Given the description of an element on the screen output the (x, y) to click on. 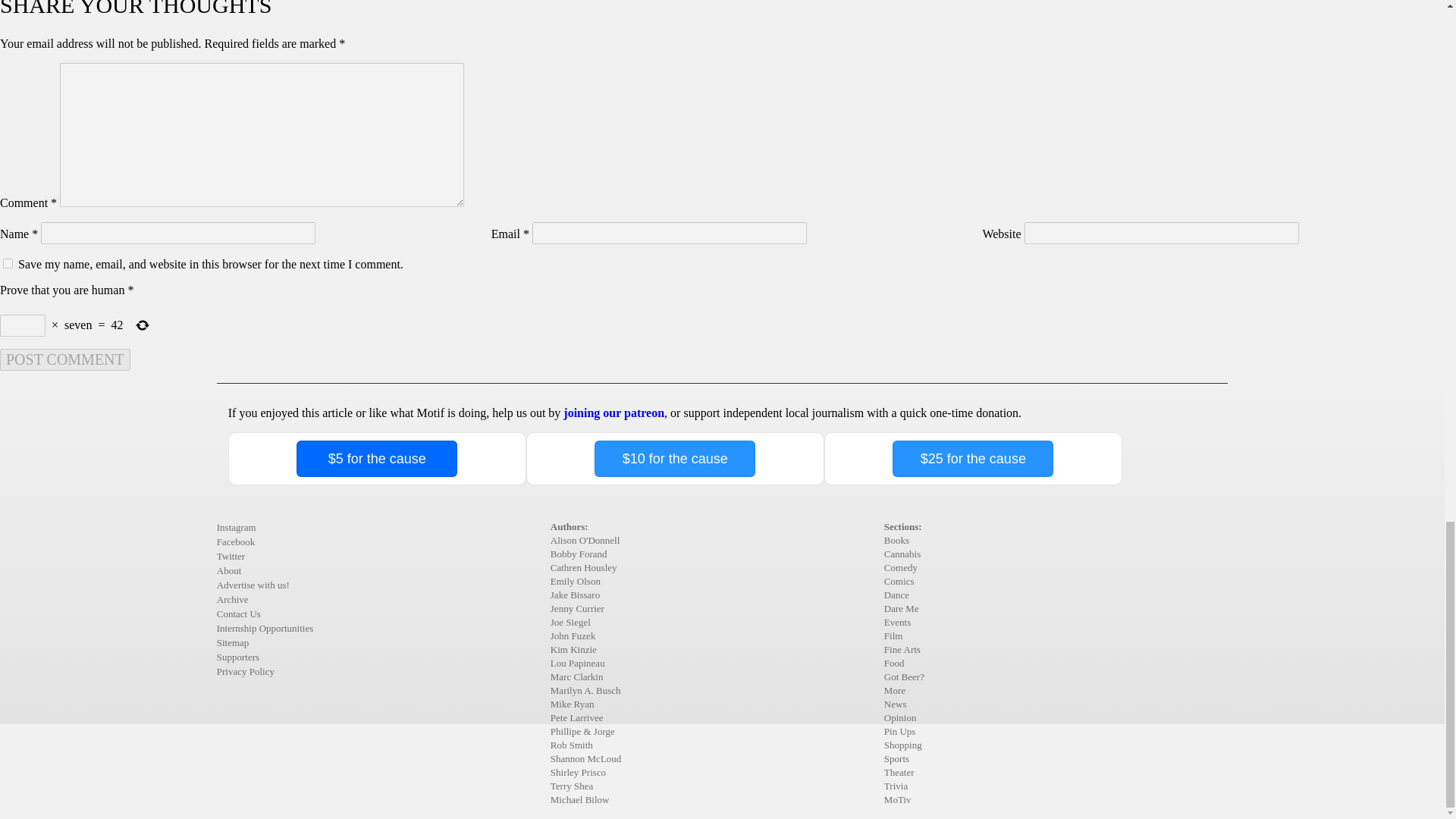
Posts by Cathren Housley (583, 567)
Posts by Marilyn A. Busch (585, 690)
Posts by Joe Siegel (570, 622)
Posts by Marc Clarkin (577, 676)
Post Comment (65, 359)
Posts by John Fuzek (572, 635)
Posts by Jenny Currier (577, 608)
Posts by Kim Kinzie (573, 649)
Posts by Lou Papineau (577, 663)
Posts by Alison O'Donnell (585, 540)
Posts by Bobby Forand (578, 553)
yes (7, 263)
Posts by Jake Bissaro (574, 594)
Posts by Emily Olson (574, 581)
